Given the description of an element on the screen output the (x, y) to click on. 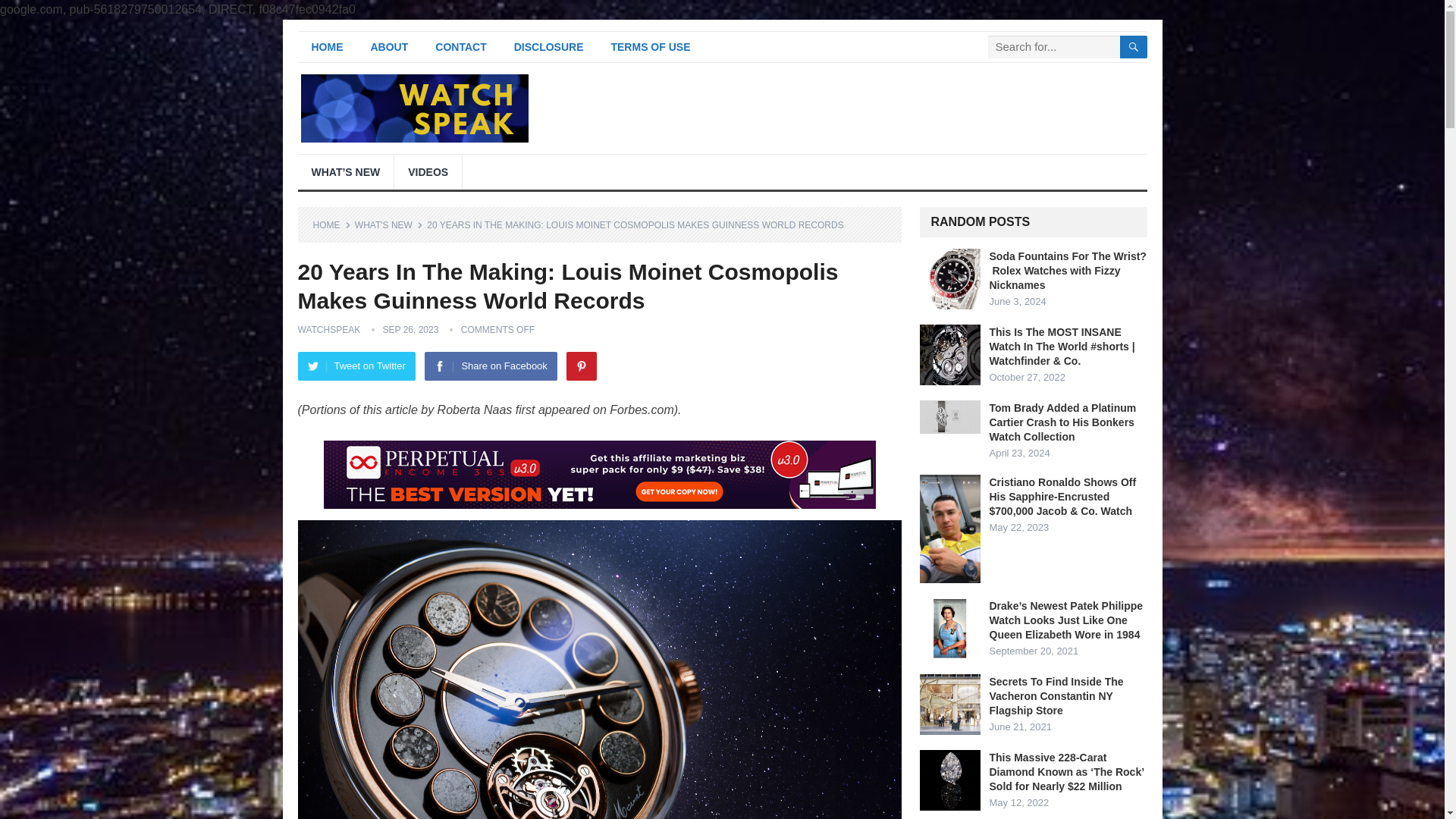
HOME (331, 225)
CONTACT (460, 46)
HOME (326, 46)
VIDEOS (427, 171)
WATCHSPEAK (328, 329)
TERMS OF USE (649, 46)
View all posts in What's New (389, 225)
Share on Facebook (490, 366)
DISCLOSURE (548, 46)
Posts by watchspeak (328, 329)
Pinterest (581, 366)
